Given the description of an element on the screen output the (x, y) to click on. 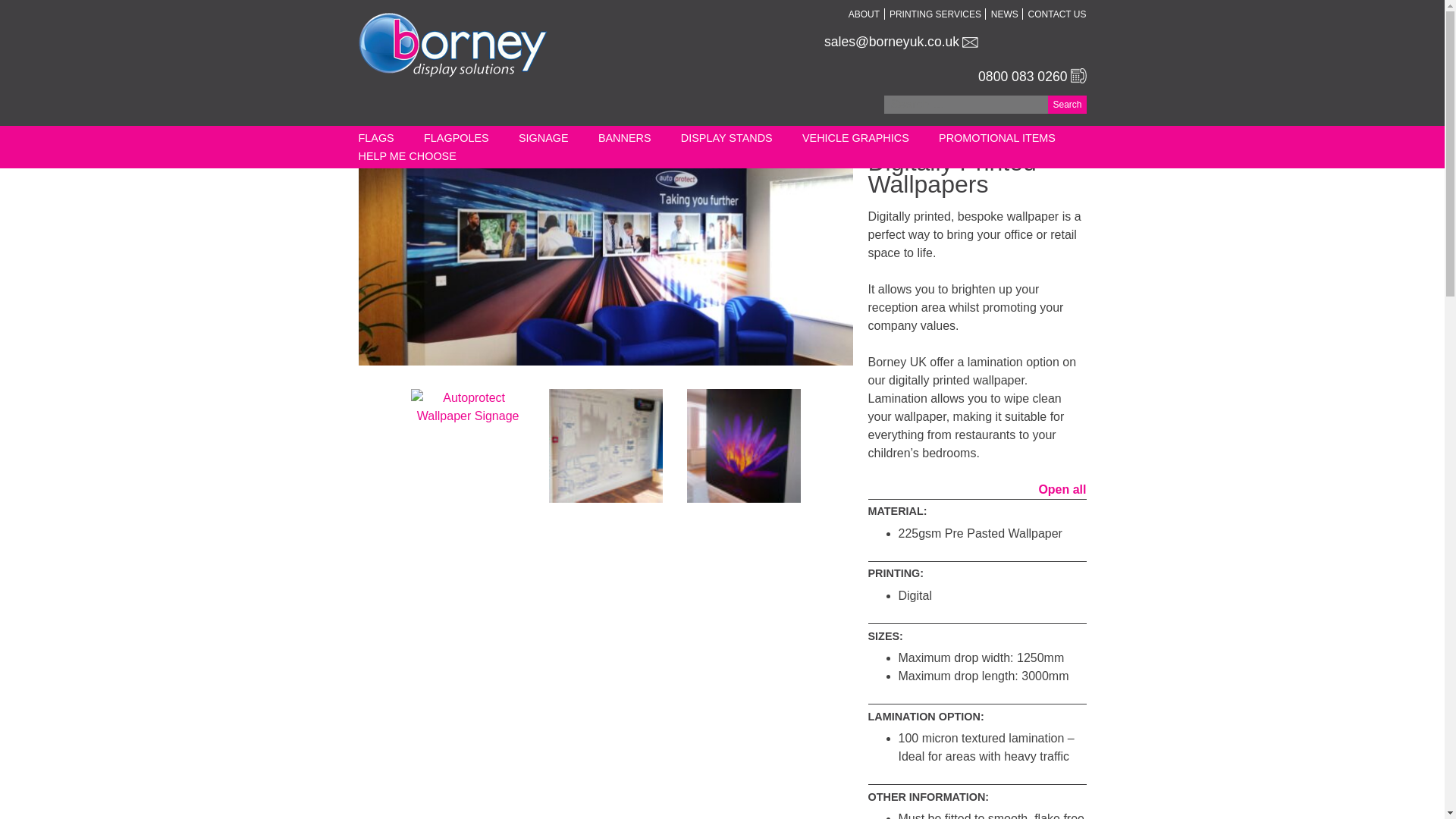
SIGNAGE (543, 137)
PRINTING SERVICES (935, 14)
Borney digitally printed wallpaper (605, 445)
Autoprotect Wallpaper Signage (467, 445)
ABOUT (863, 14)
Search (1067, 104)
Autoprotect Wallpaper Signage (605, 258)
Search (1067, 104)
FLAGPOLES (456, 137)
HELP ME CHOOSE (406, 155)
DISPLAY STANDS (727, 137)
0800 083 0260 (1022, 76)
Search (1067, 104)
Home (371, 134)
PROMOTIONAL ITEMS (997, 137)
